Given the description of an element on the screen output the (x, y) to click on. 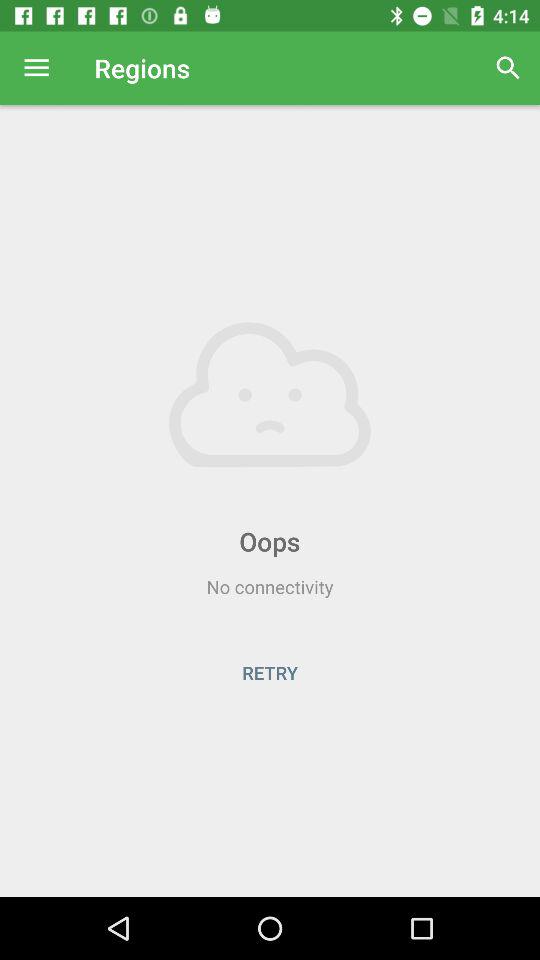
open the item to the right of regions icon (508, 67)
